Given the description of an element on the screen output the (x, y) to click on. 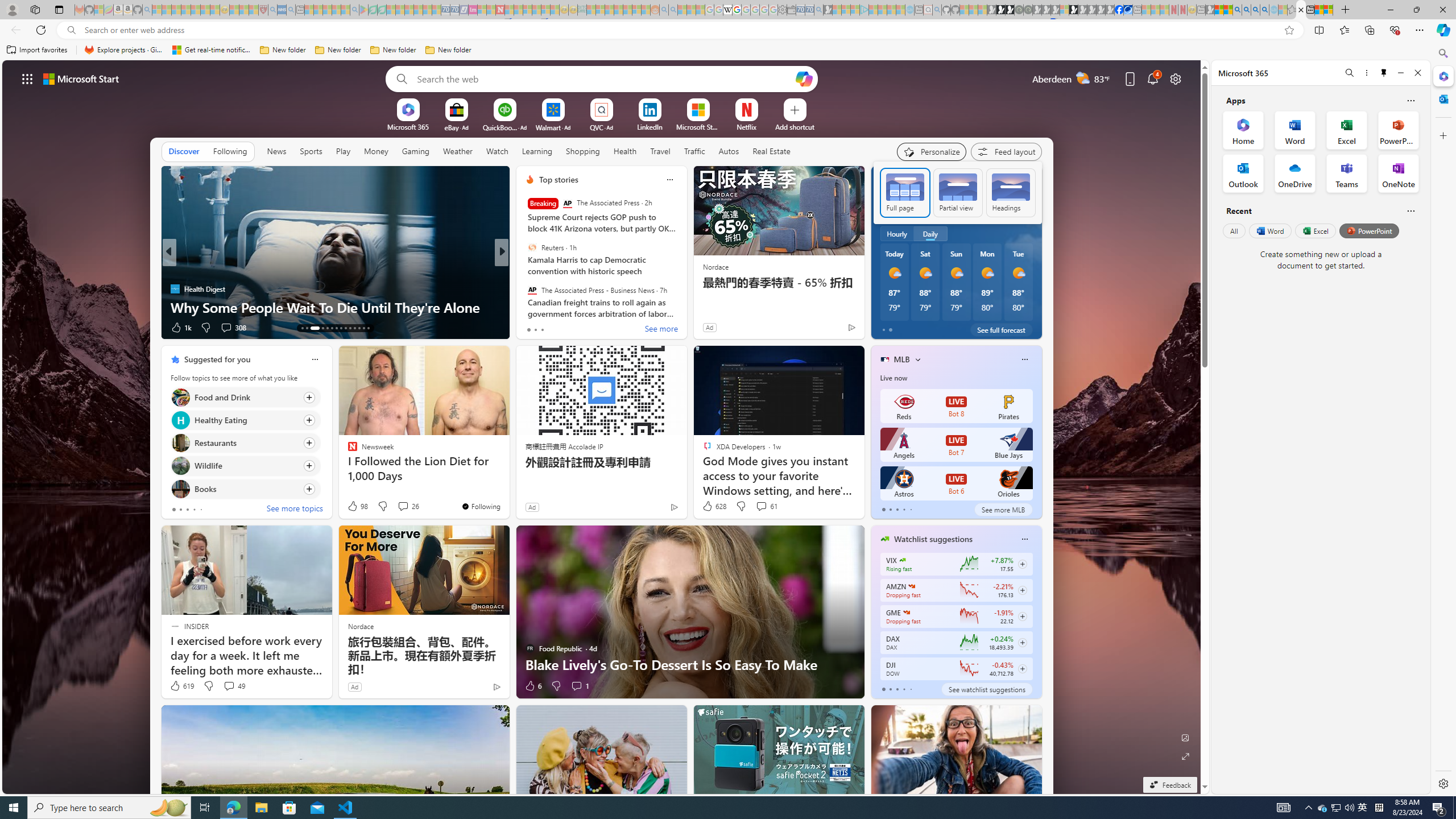
GAMESTOP CORP. (906, 612)
Word (1269, 230)
Shopping (583, 151)
New Report Confirms 2023 Was Record Hot | Watch - Sleeping (195, 9)
Partly sunny (892, 208)
Shopping (582, 151)
Sign in to your account - Sleeping (1064, 9)
45 Like (530, 327)
